Given the description of an element on the screen output the (x, y) to click on. 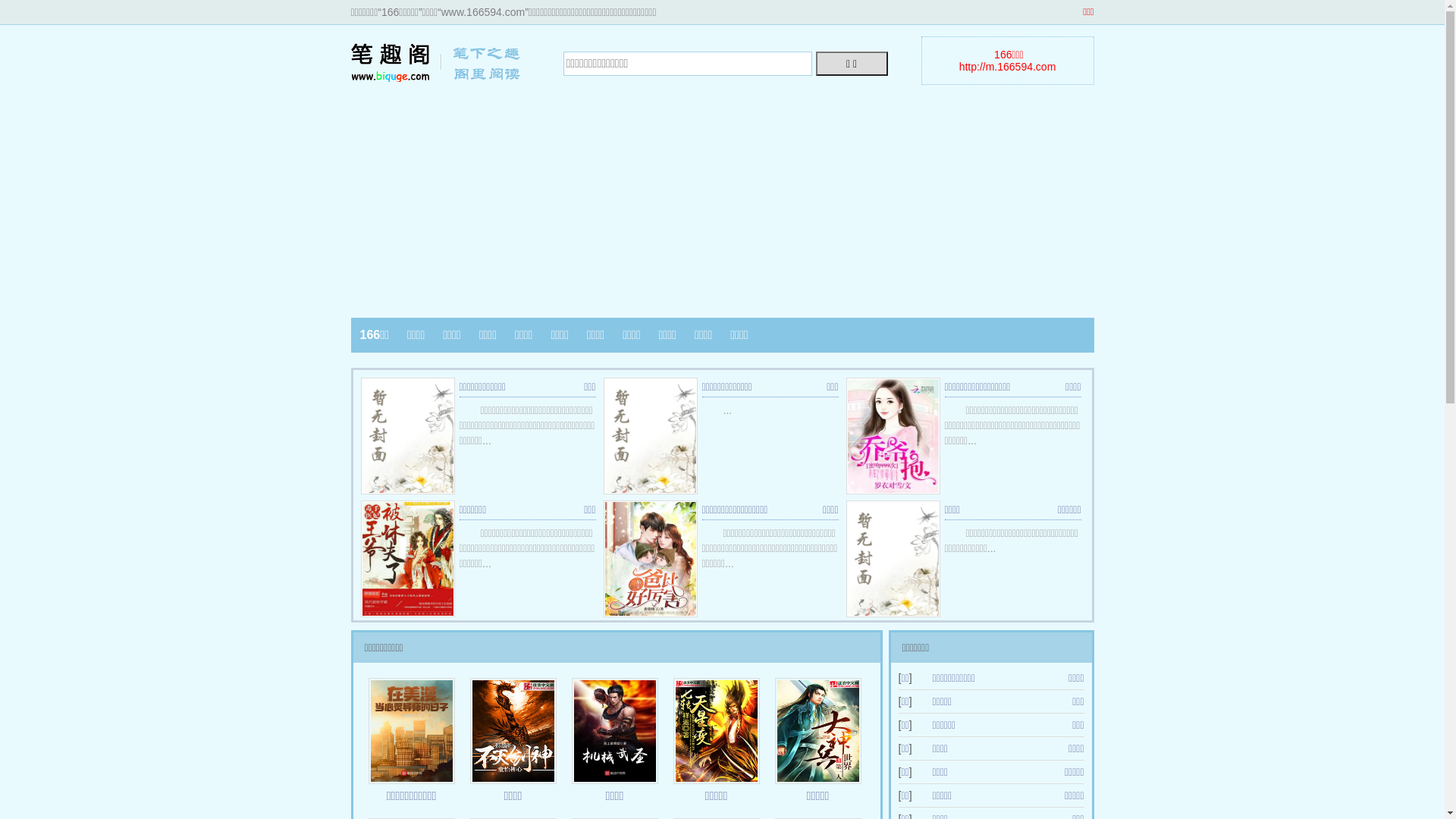
Advertisement Element type: hover (721, 200)
